Given the description of an element on the screen output the (x, y) to click on. 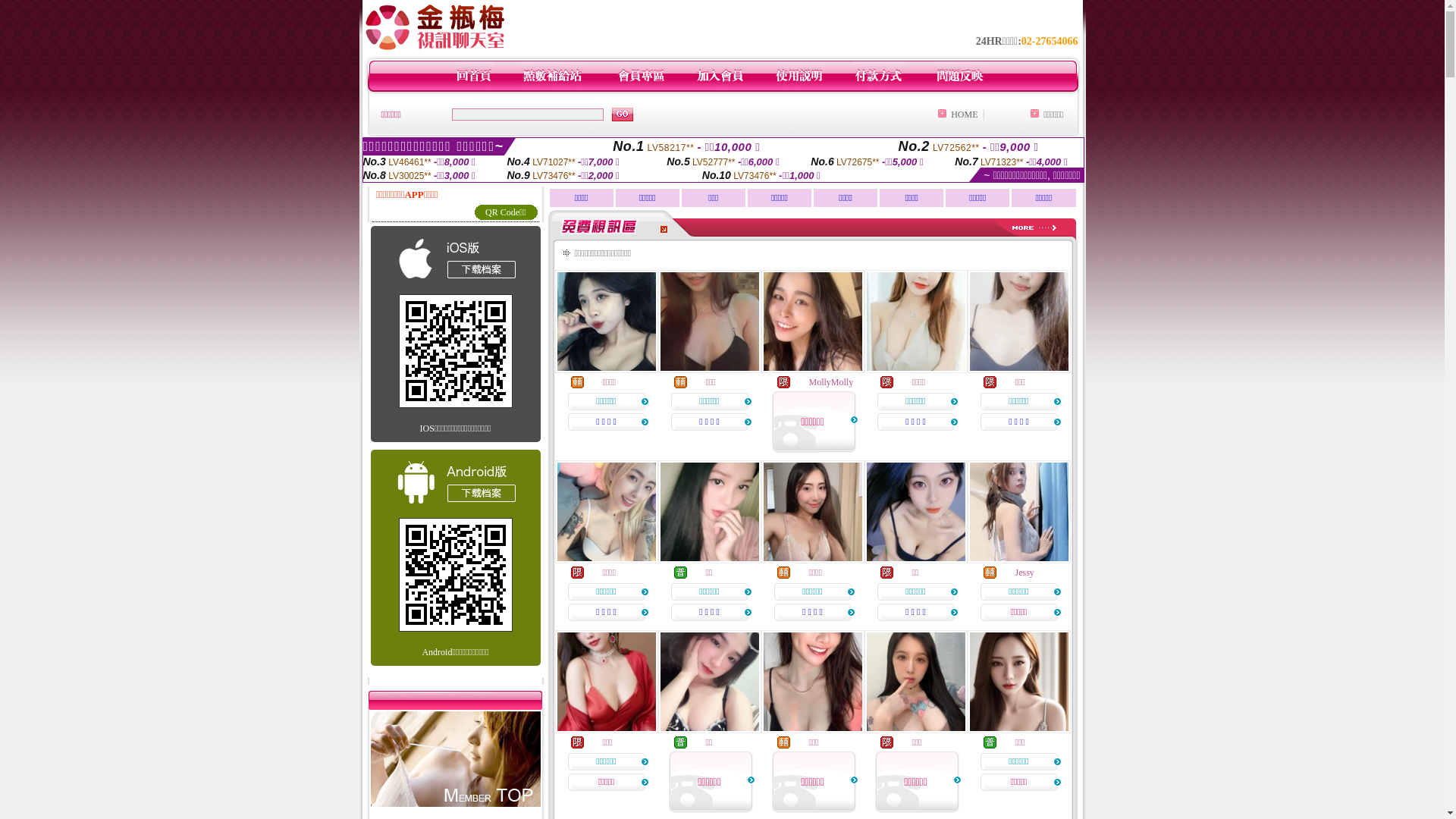
MollyMolly Element type: text (830, 381)
HOME Element type: text (963, 114)
Jessy Element type: text (1023, 572)
